Given the description of an element on the screen output the (x, y) to click on. 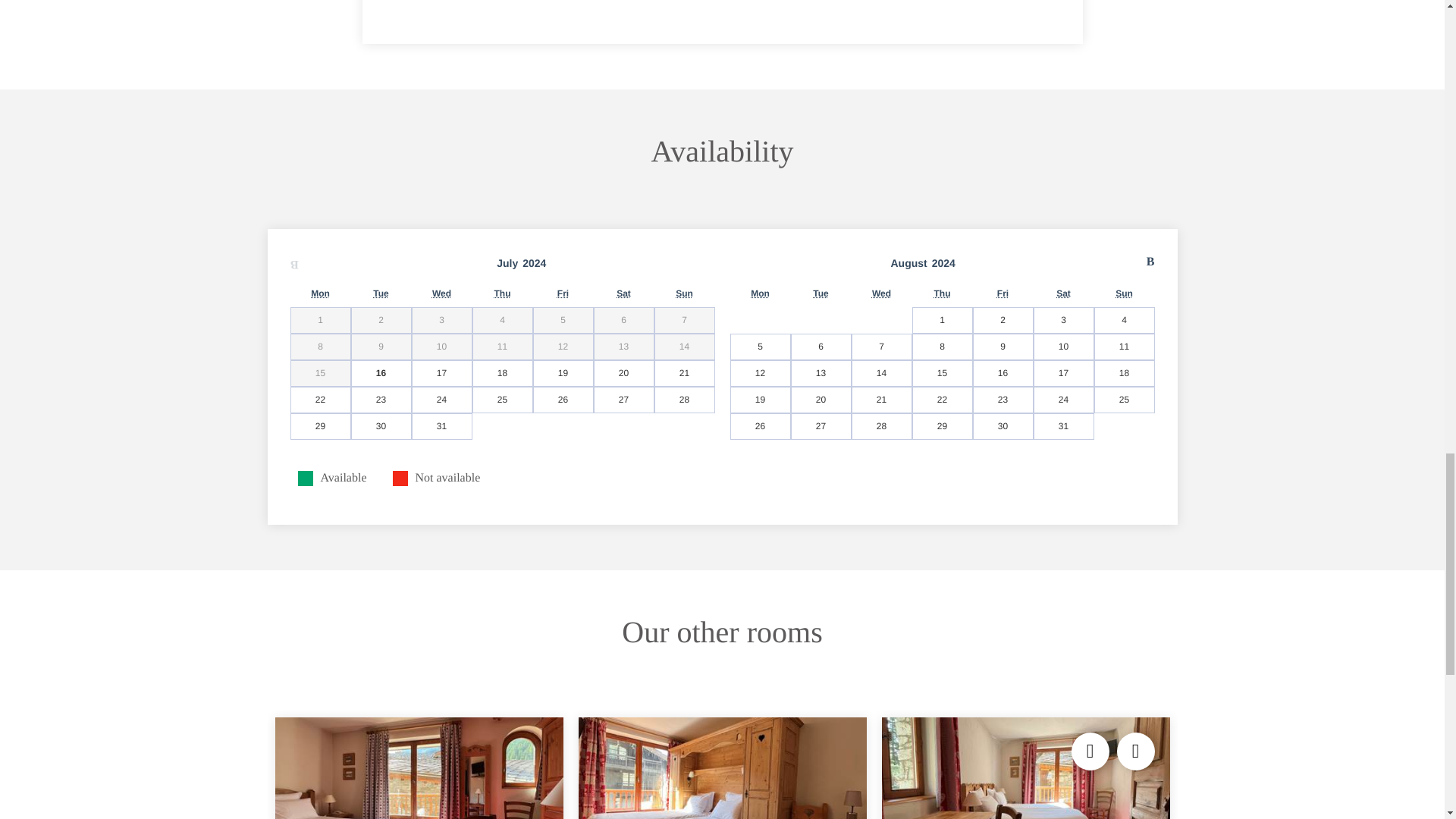
Thursday (942, 293)
Saturday (1063, 293)
Thursday (503, 293)
Monday (320, 293)
Wednesday (441, 293)
Tuesday (380, 293)
Wednesday (881, 293)
Sunday (1123, 293)
Saturday (622, 293)
Friday (1003, 293)
Monday (760, 293)
Friday (563, 293)
Tuesday (820, 293)
Sunday (684, 293)
